Given the description of an element on the screen output the (x, y) to click on. 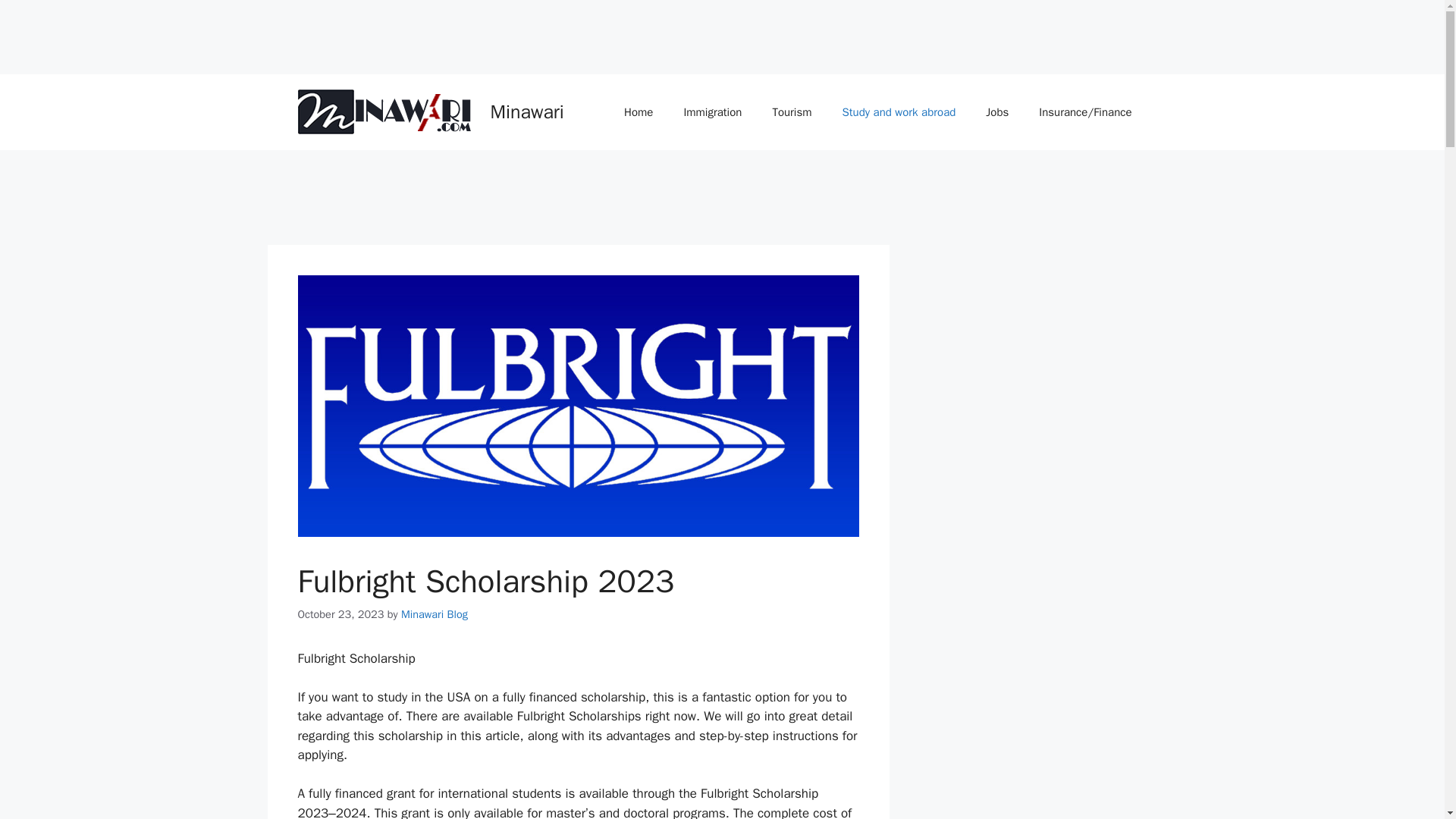
Advertisement (542, 199)
Advertisement (275, 33)
View all posts by Minawari Blog (434, 613)
Study and work abroad (899, 112)
Home (638, 112)
Minawari (526, 111)
Tourism (792, 112)
Jobs (997, 112)
Immigration (712, 112)
Minawari Blog (434, 613)
